Given the description of an element on the screen output the (x, y) to click on. 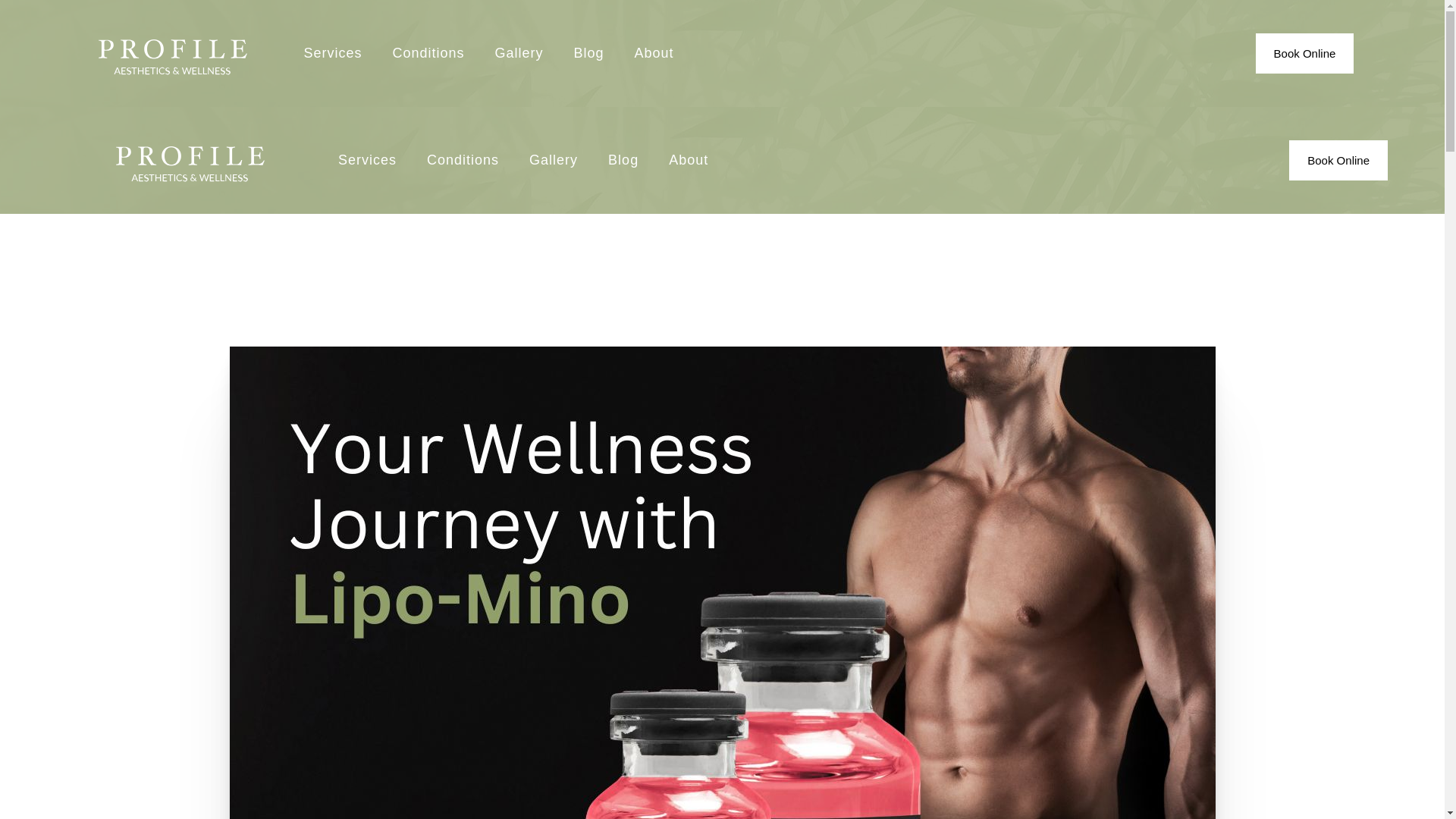
Blog (589, 54)
Gallery (519, 54)
Services (332, 54)
About (654, 54)
Conditions (428, 54)
